Given the description of an element on the screen output the (x, y) to click on. 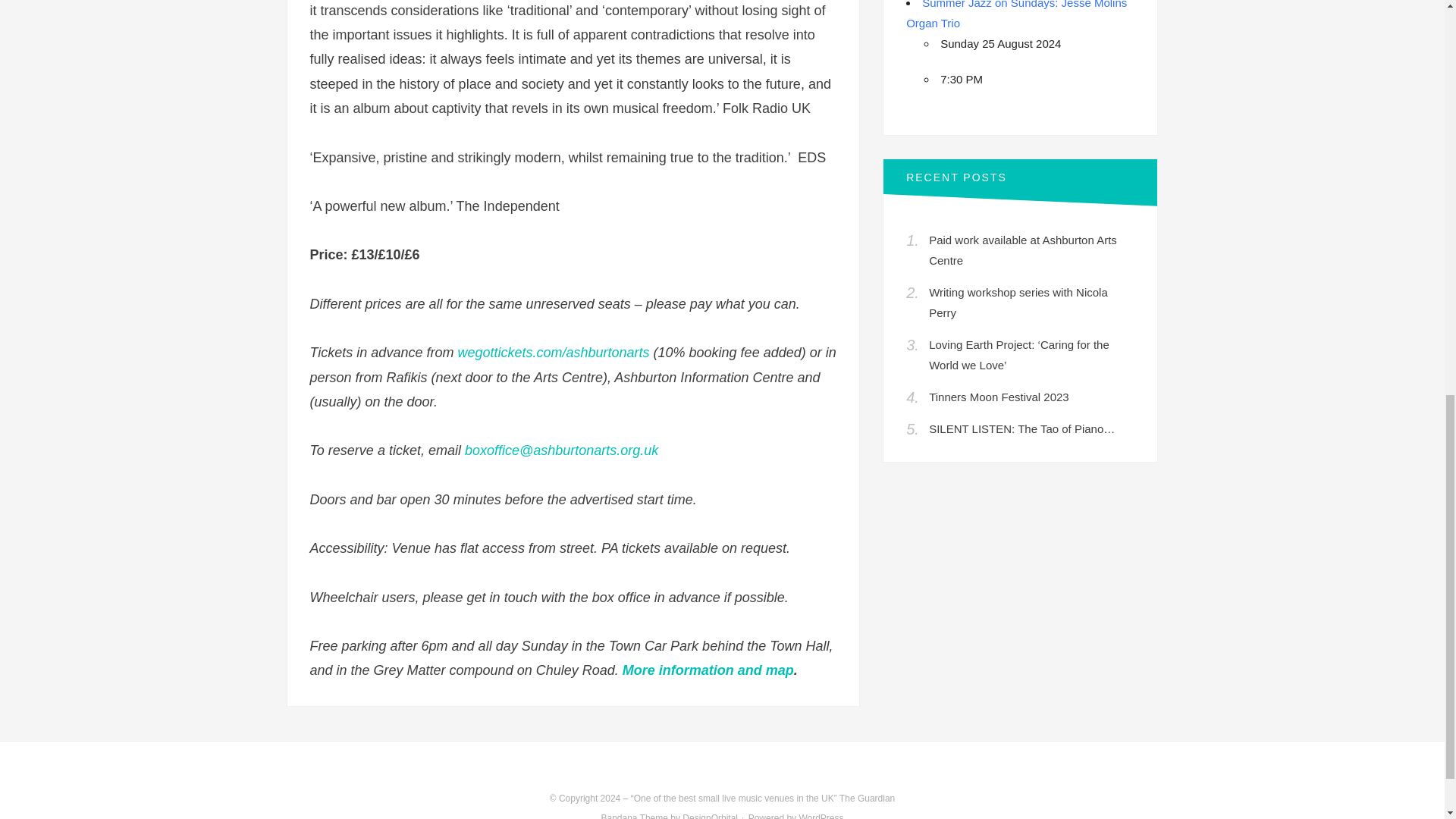
DesignOrbital (710, 816)
More information and map (708, 670)
Paid work available at Ashburton Arts Centre (1022, 249)
DesignOrbital (710, 816)
Tinners Moon Festival 2023 (998, 396)
WordPress (820, 816)
Writing workshop series with Nicola Perry (1018, 302)
WordPress (820, 816)
Summer Jazz on Sundays: Jesse Molins Organ Trio (1015, 14)
